Given the description of an element on the screen output the (x, y) to click on. 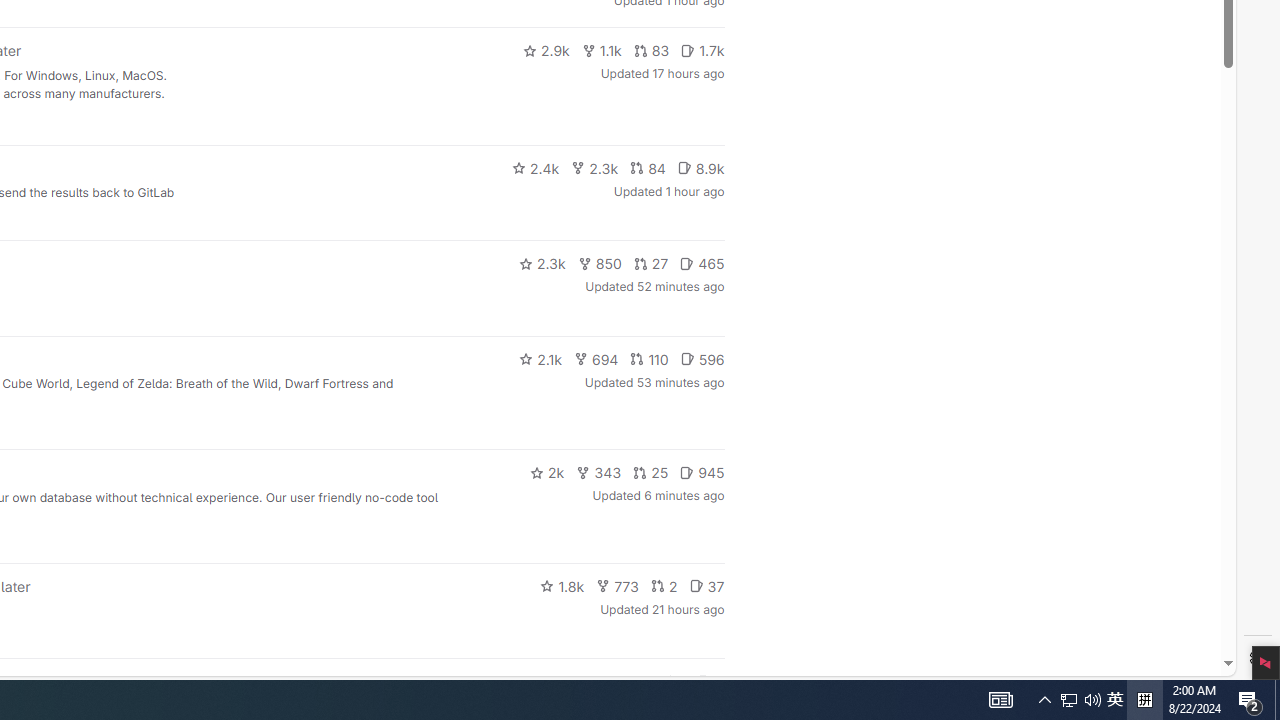
694 (596, 358)
6 (710, 681)
850 (599, 263)
343 (599, 472)
1 (673, 681)
2.4k (535, 167)
596 (701, 358)
945 (701, 472)
27 (651, 263)
1.8k (562, 585)
83 (651, 50)
1.4k (573, 681)
2.9k (545, 50)
2k (546, 472)
1.1k (601, 50)
